Given the description of an element on the screen output the (x, y) to click on. 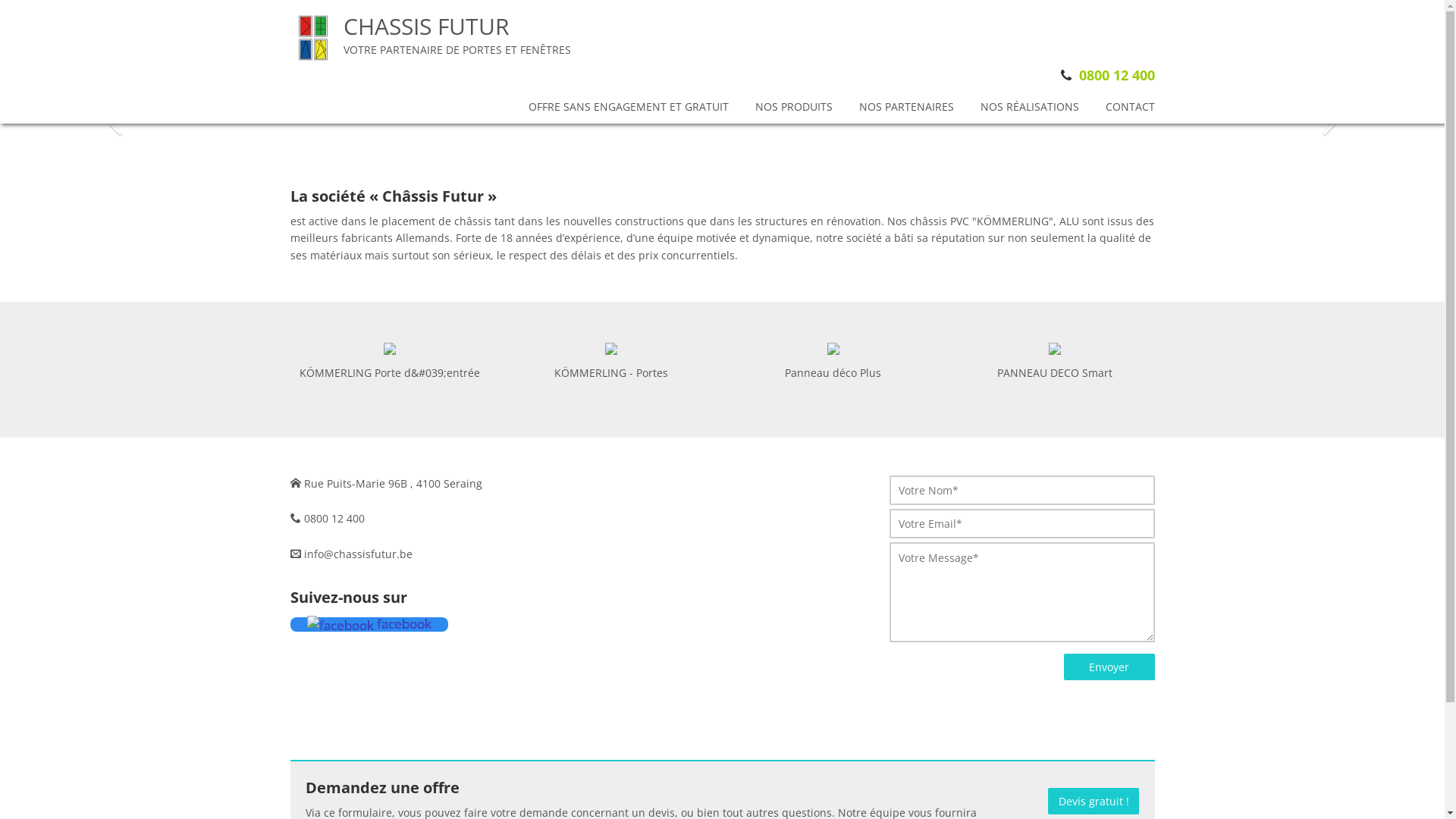
NOS PARTENAIRES Element type: text (905, 107)
CONTACT Element type: text (1129, 107)
NOS PRODUITS Element type: text (793, 107)
OFFRE SANS ENGAGEMENT ET GRATUIT Element type: text (627, 107)
Envoyer Element type: text (1108, 666)
Devis gratuit ! Element type: text (1093, 800)
facebook Element type: text (368, 624)
CHASSIS FUTUR Element type: text (456, 35)
